Given the description of an element on the screen output the (x, y) to click on. 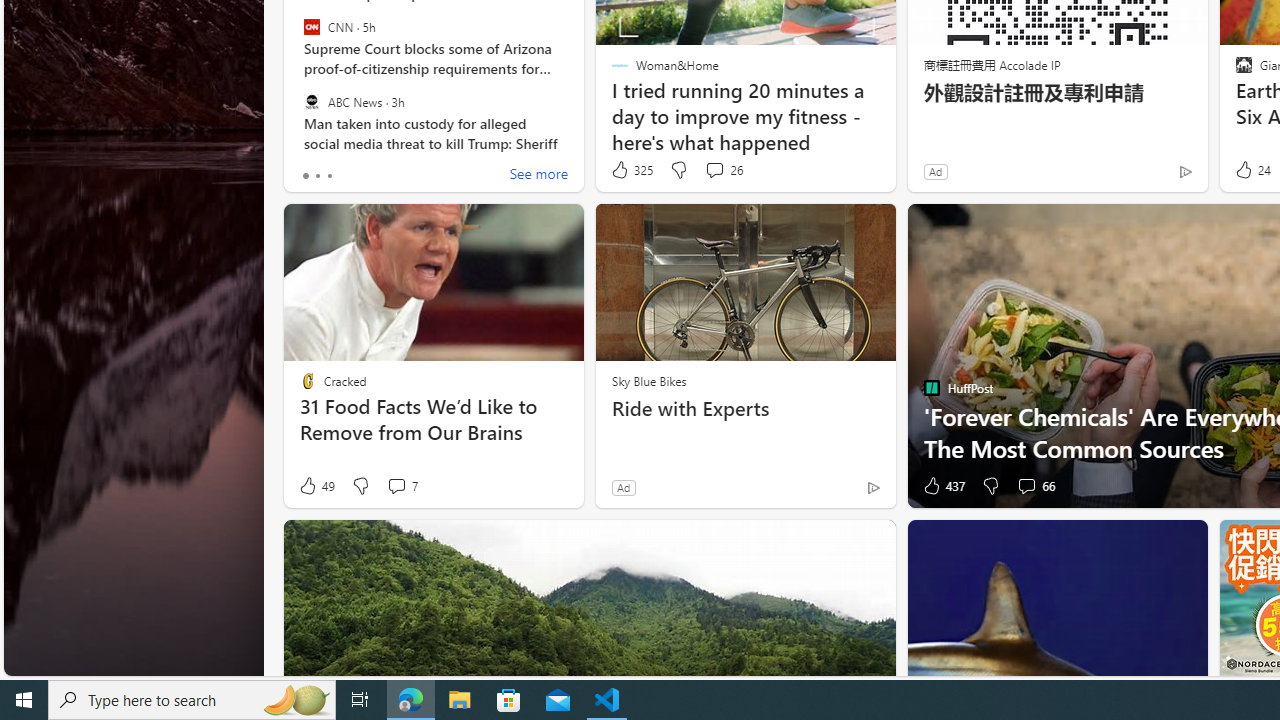
View comments 66 Comment (1035, 485)
CNN (311, 27)
View comments 26 Comment (714, 169)
ABC News (311, 101)
tab-0 (305, 175)
Sky Blue Bikes (648, 380)
24 Like (1251, 170)
View comments 7 Comment (401, 485)
tab-1 (317, 175)
tab-2 (328, 175)
